Given the description of an element on the screen output the (x, y) to click on. 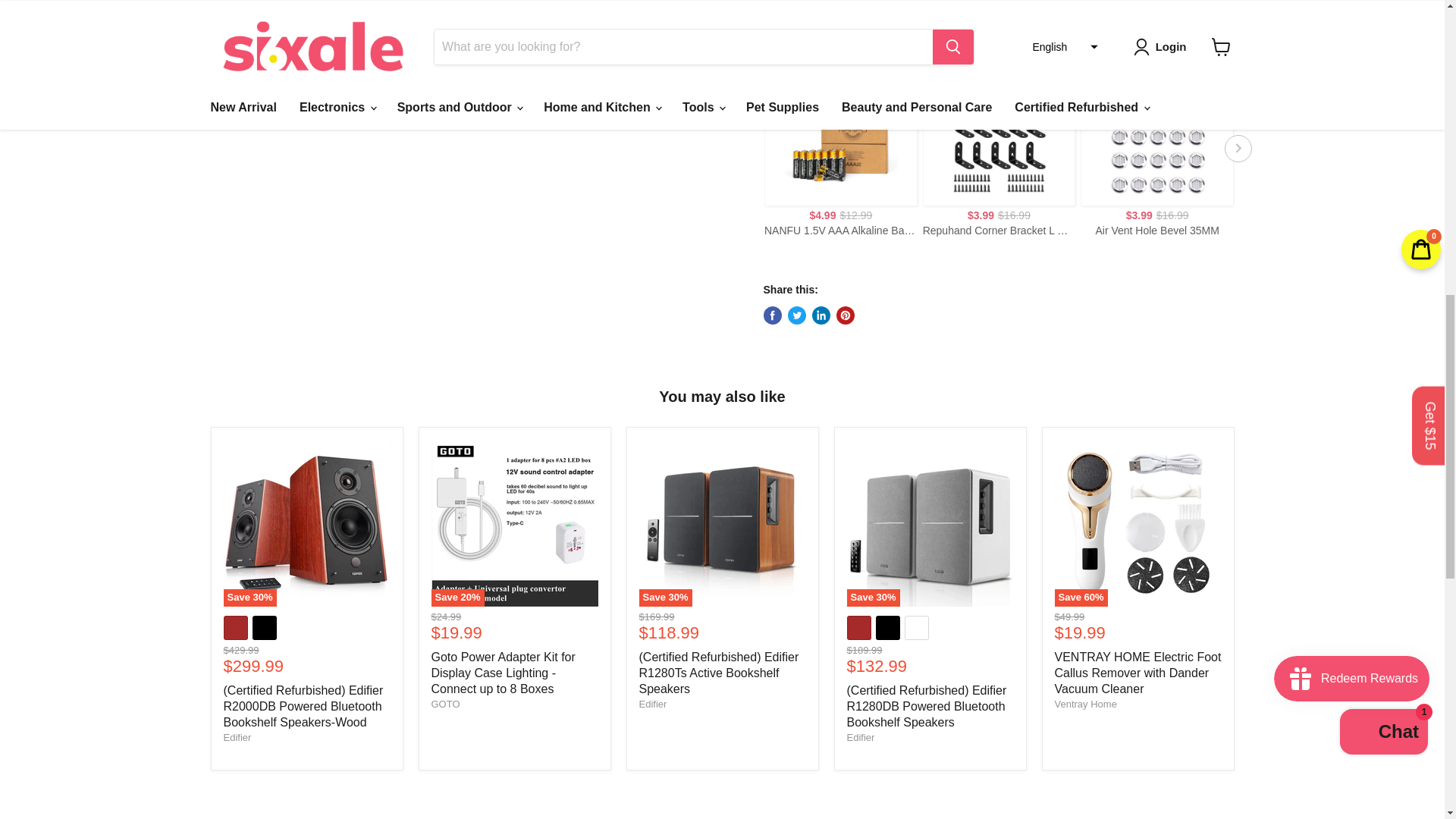
Ventray Home (1085, 704)
GOTO (445, 704)
Edifier (236, 737)
Edifier (652, 704)
Edifier (860, 737)
